Given the description of an element on the screen output the (x, y) to click on. 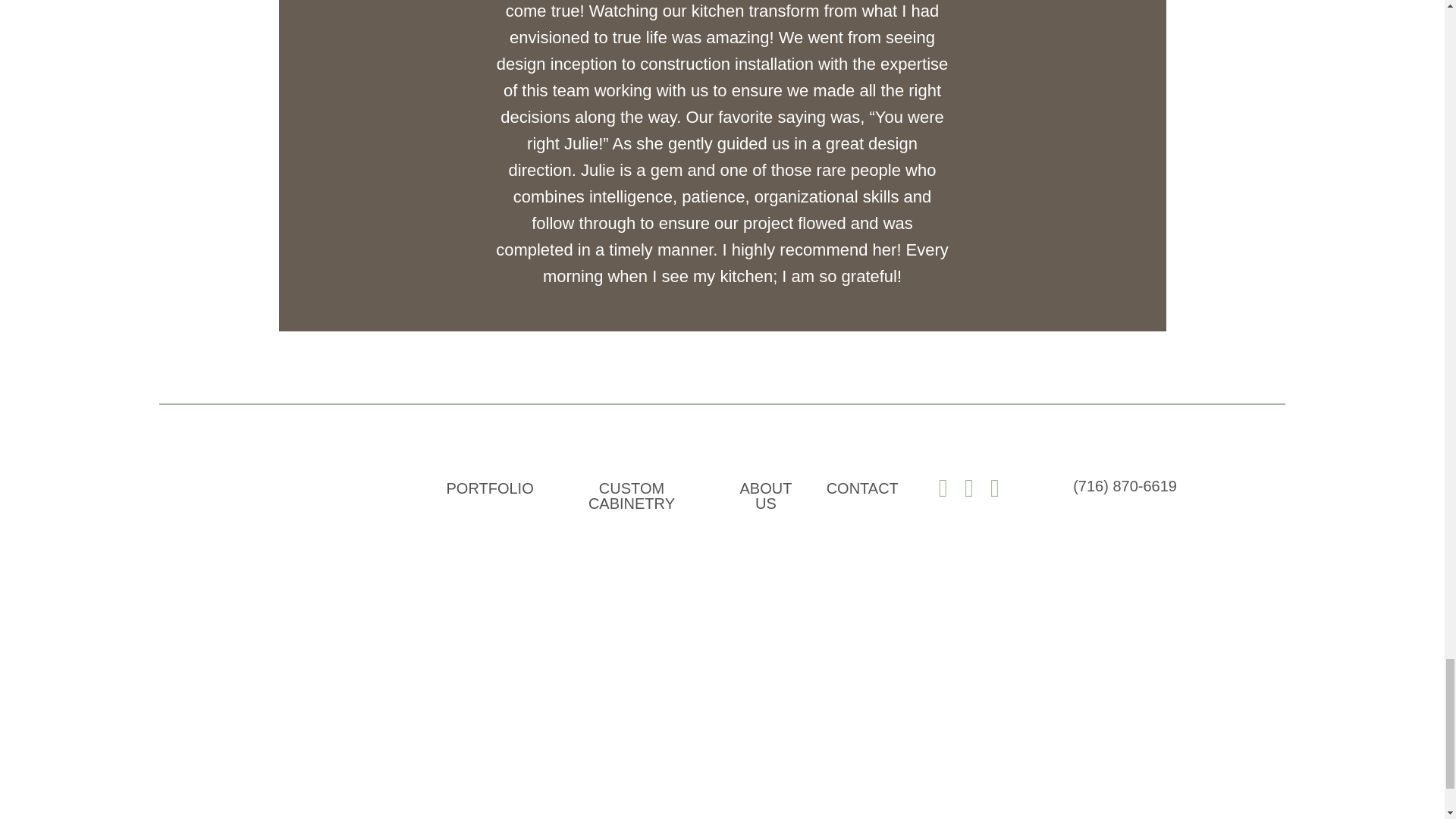
Sierra Unlimited Construction (272, 598)
CUSTOM CABINETRY (631, 494)
CONTACT (862, 487)
PORTFOLIO (488, 487)
ABOUT US (765, 494)
